Given the description of an element on the screen output the (x, y) to click on. 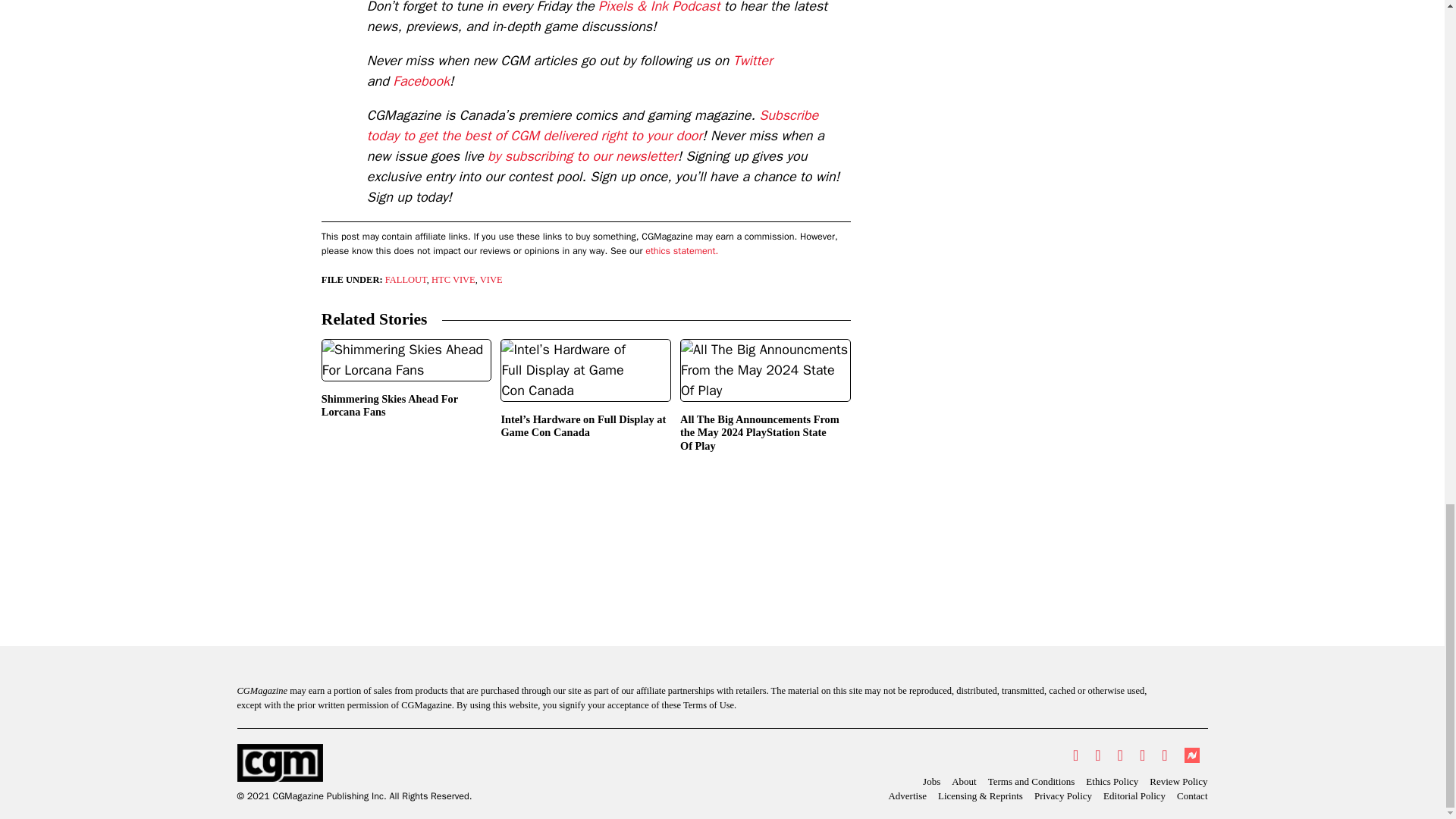
Flipboard Page (1163, 754)
Facebook Page (1097, 754)
YouTube Page (1142, 754)
NewsBreak (1190, 754)
Twitter Profile (1075, 754)
Instagram Profile (1120, 754)
CGMagazine (353, 762)
